Given the description of an element on the screen output the (x, y) to click on. 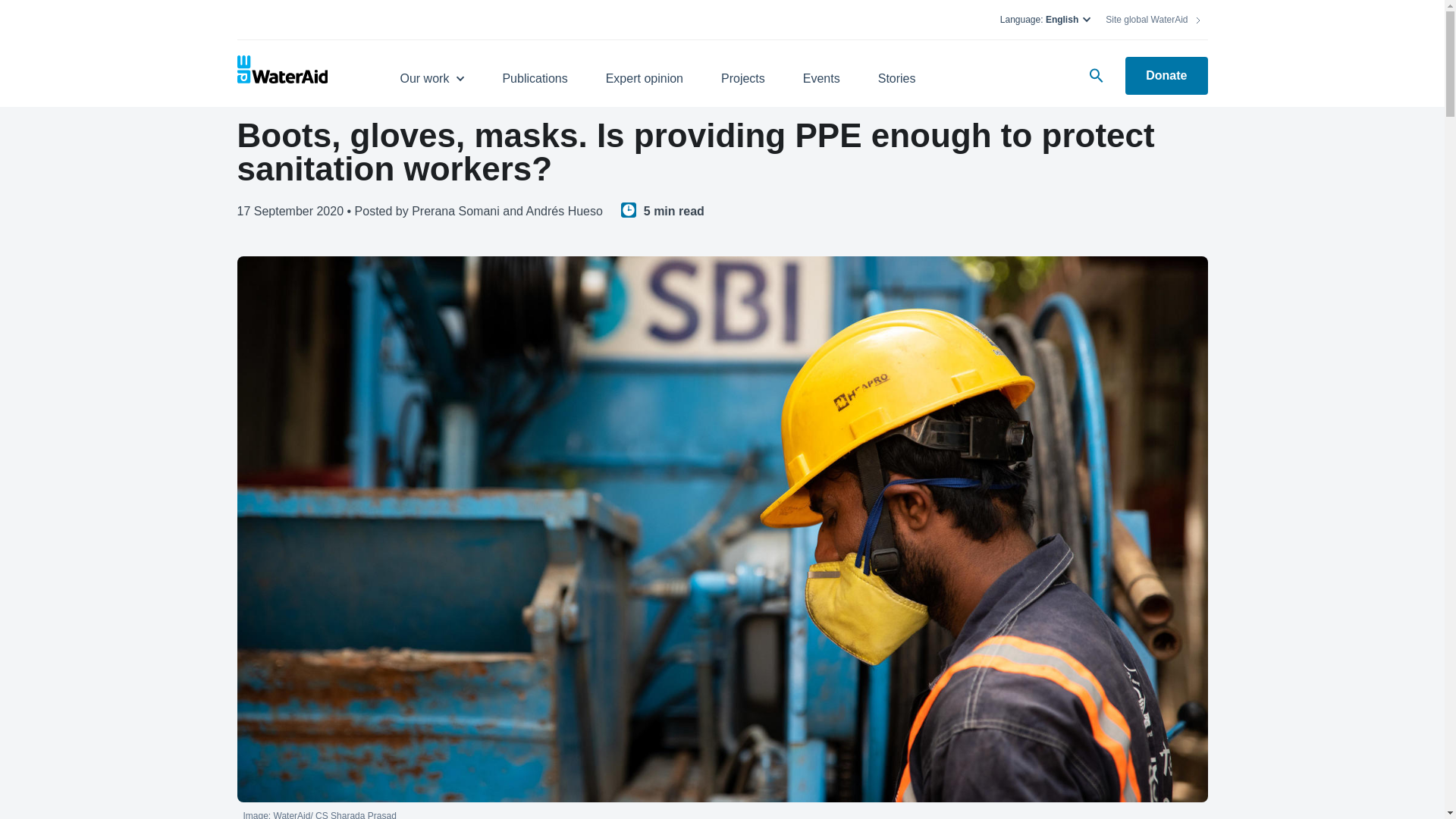
Search (1095, 75)
English (1067, 19)
Site global WaterAid (1152, 19)
Donate (1166, 75)
Home (296, 70)
Events (821, 70)
Projects (742, 70)
Publications (534, 70)
Stories (896, 70)
Our work (431, 70)
Expert opinion (643, 70)
